Given the description of an element on the screen output the (x, y) to click on. 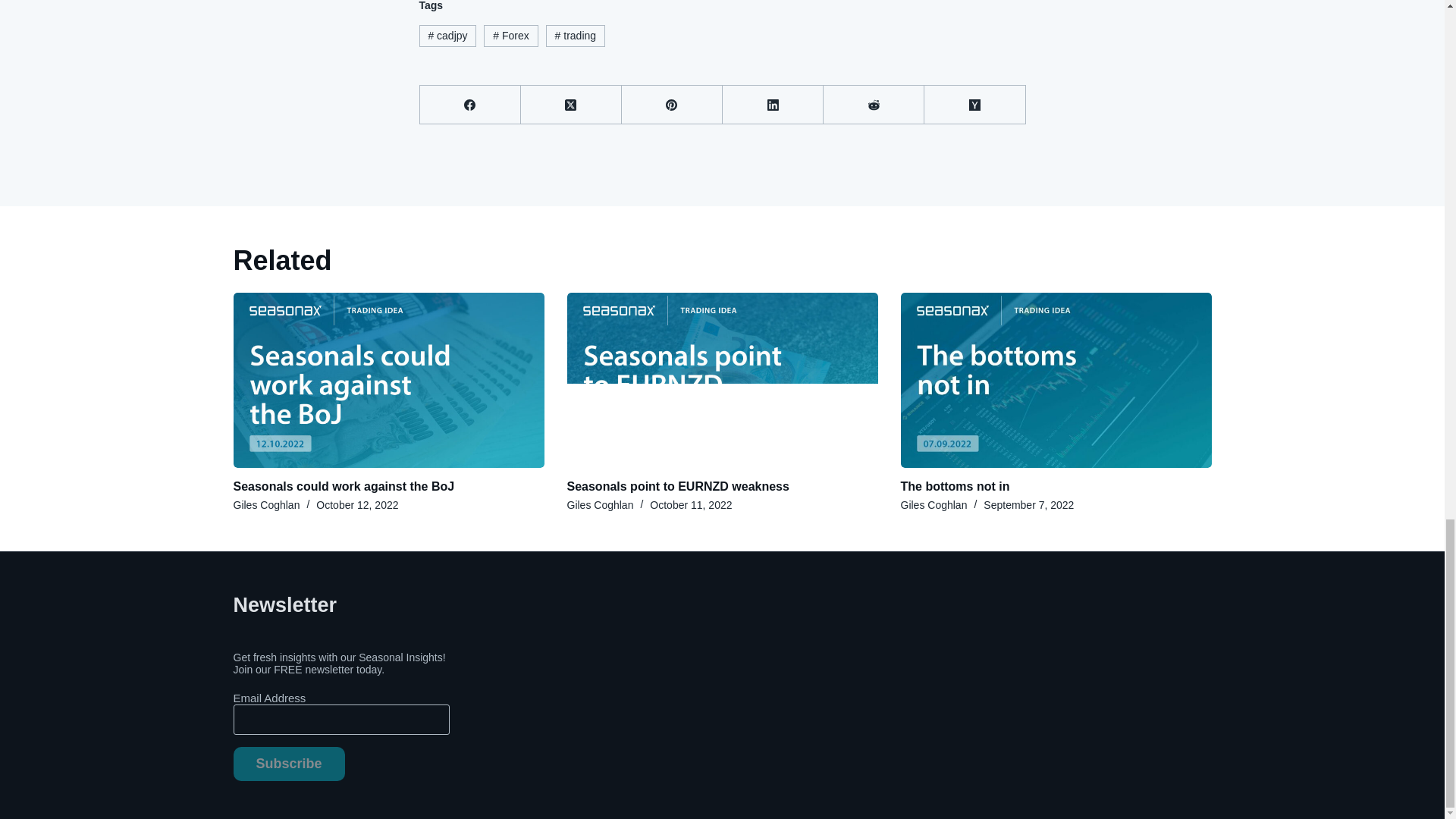
Posts by Giles Coghlan (265, 504)
Subscribe (288, 763)
Posts by Giles Coghlan (934, 504)
Posts by Giles Coghlan (600, 504)
